Given the description of an element on the screen output the (x, y) to click on. 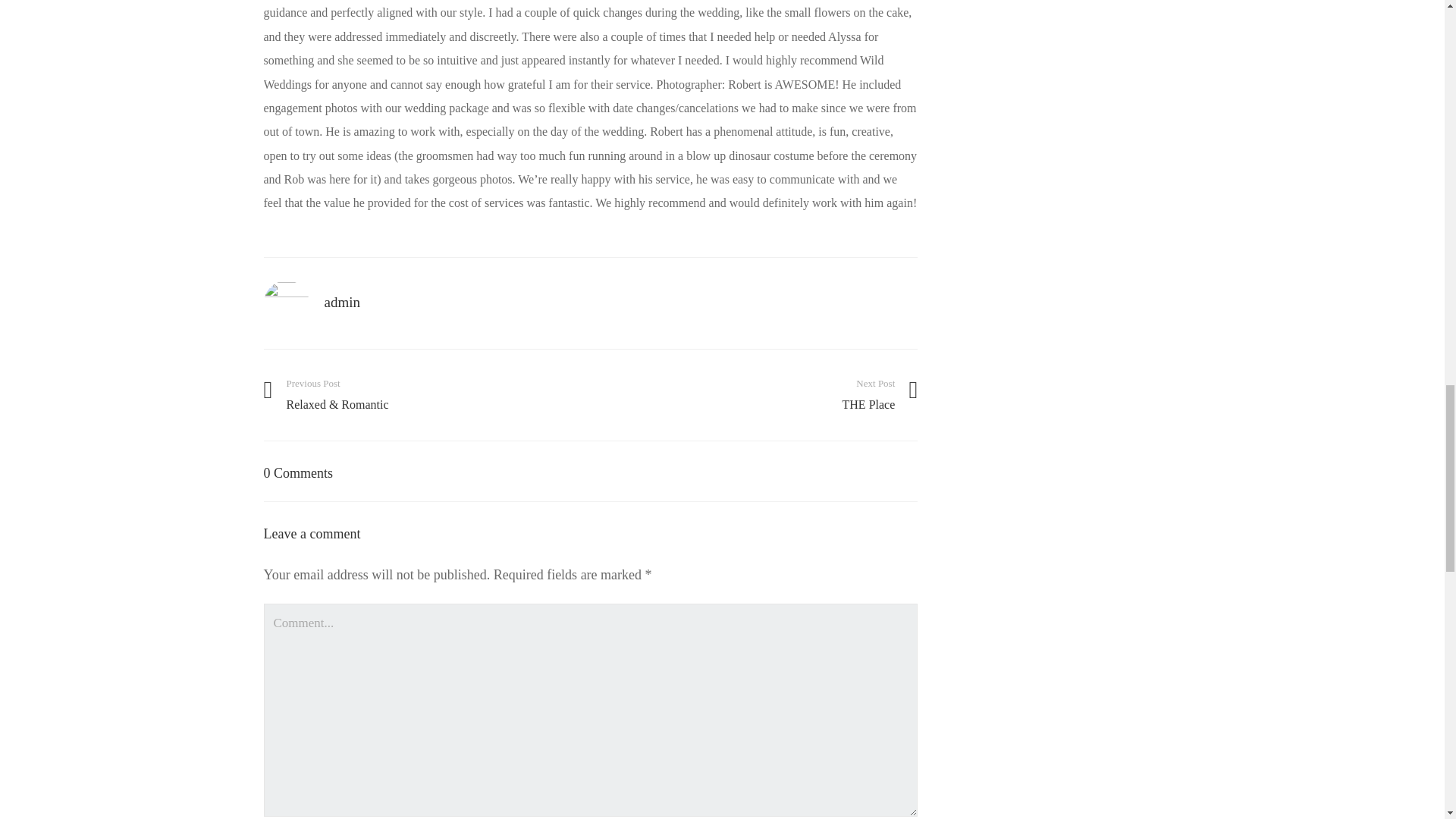
THE Place (761, 394)
